Given the description of an element on the screen output the (x, y) to click on. 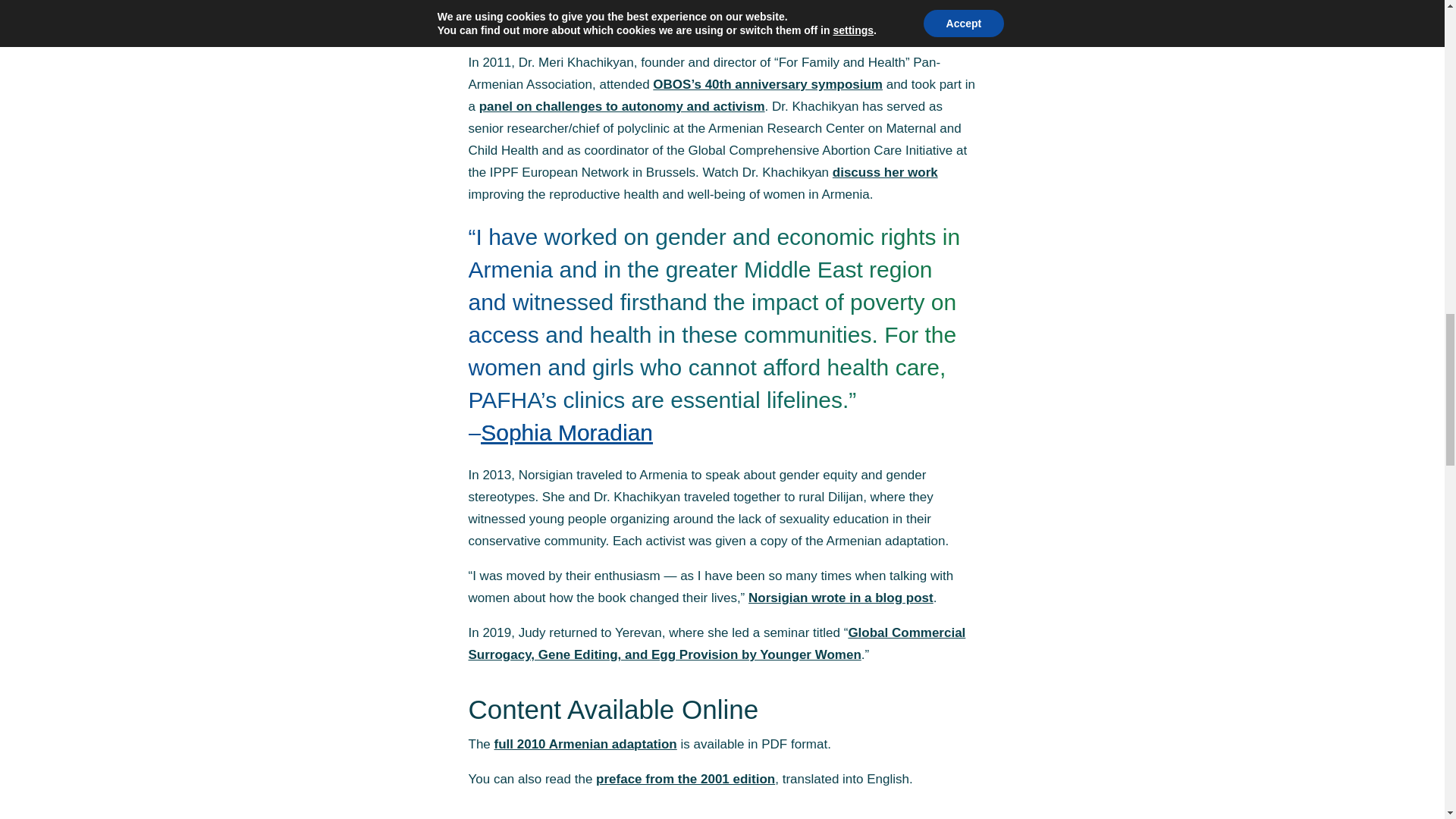
40th anniversary symposium (767, 83)
The Legacy of Cairo: Dr. Meri Khachikyan (884, 172)
Striving for Gender Equity: My Journey to Armenia (840, 597)
Sophia's blog post on her visit to Armenia (566, 432)
Providing a Lifeline for Women (709, 17)
